Given the description of an element on the screen output the (x, y) to click on. 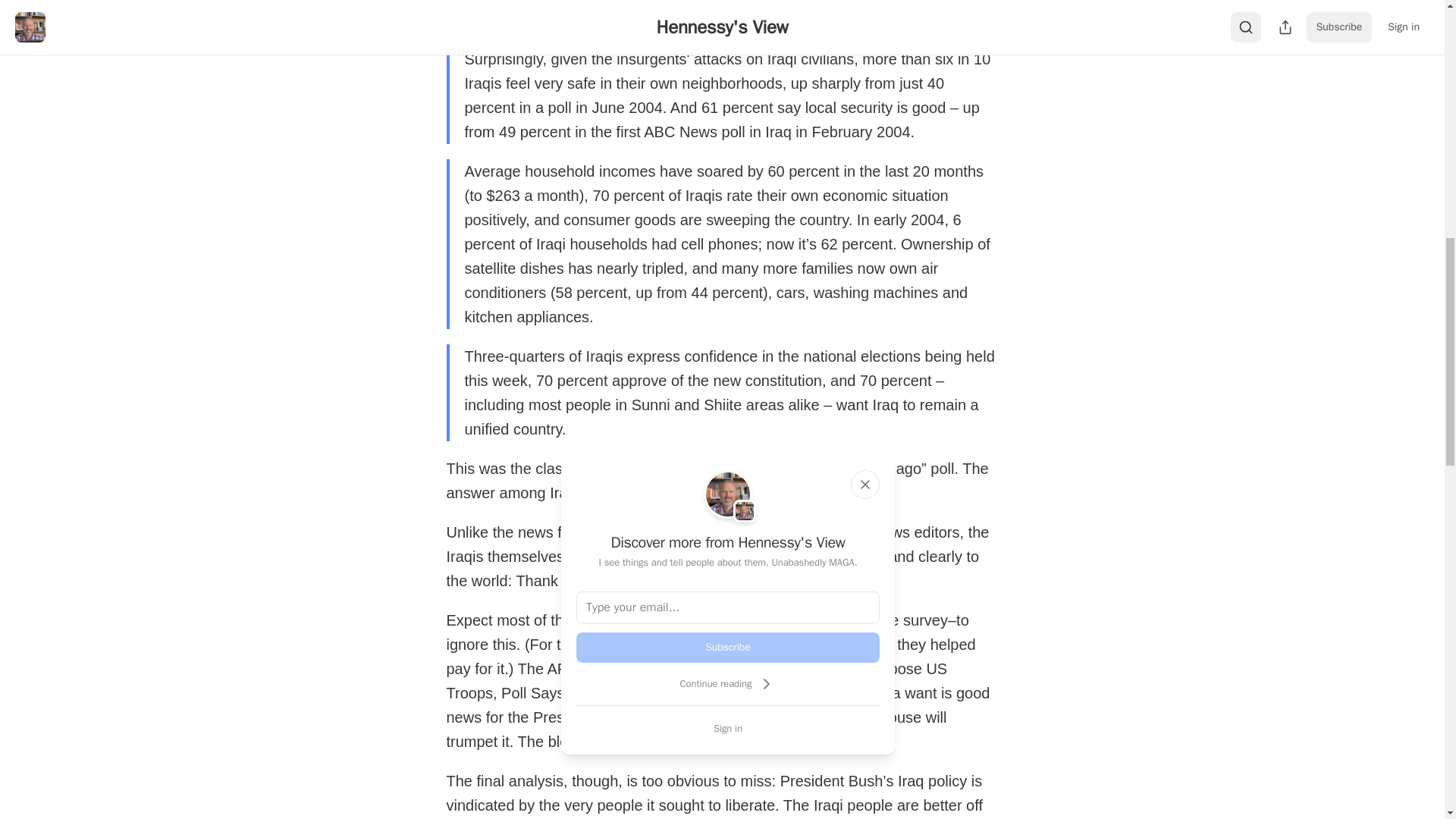
Sign in (727, 727)
Subscribe (727, 647)
Time.com (668, 644)
